Given the description of an element on the screen output the (x, y) to click on. 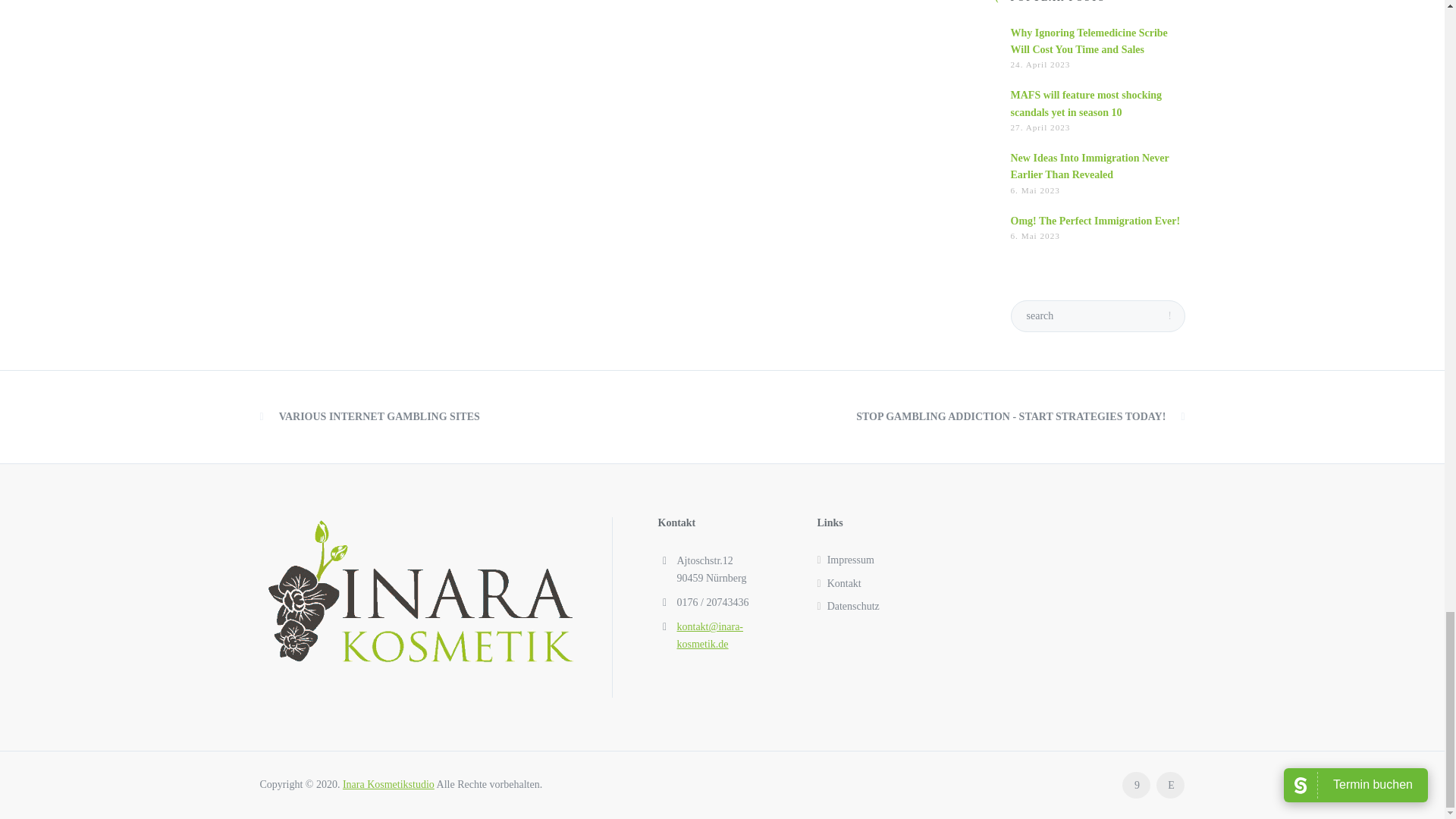
MAFS will feature most shocking scandals yet in season 10 (1085, 103)
